Given the description of an element on the screen output the (x, y) to click on. 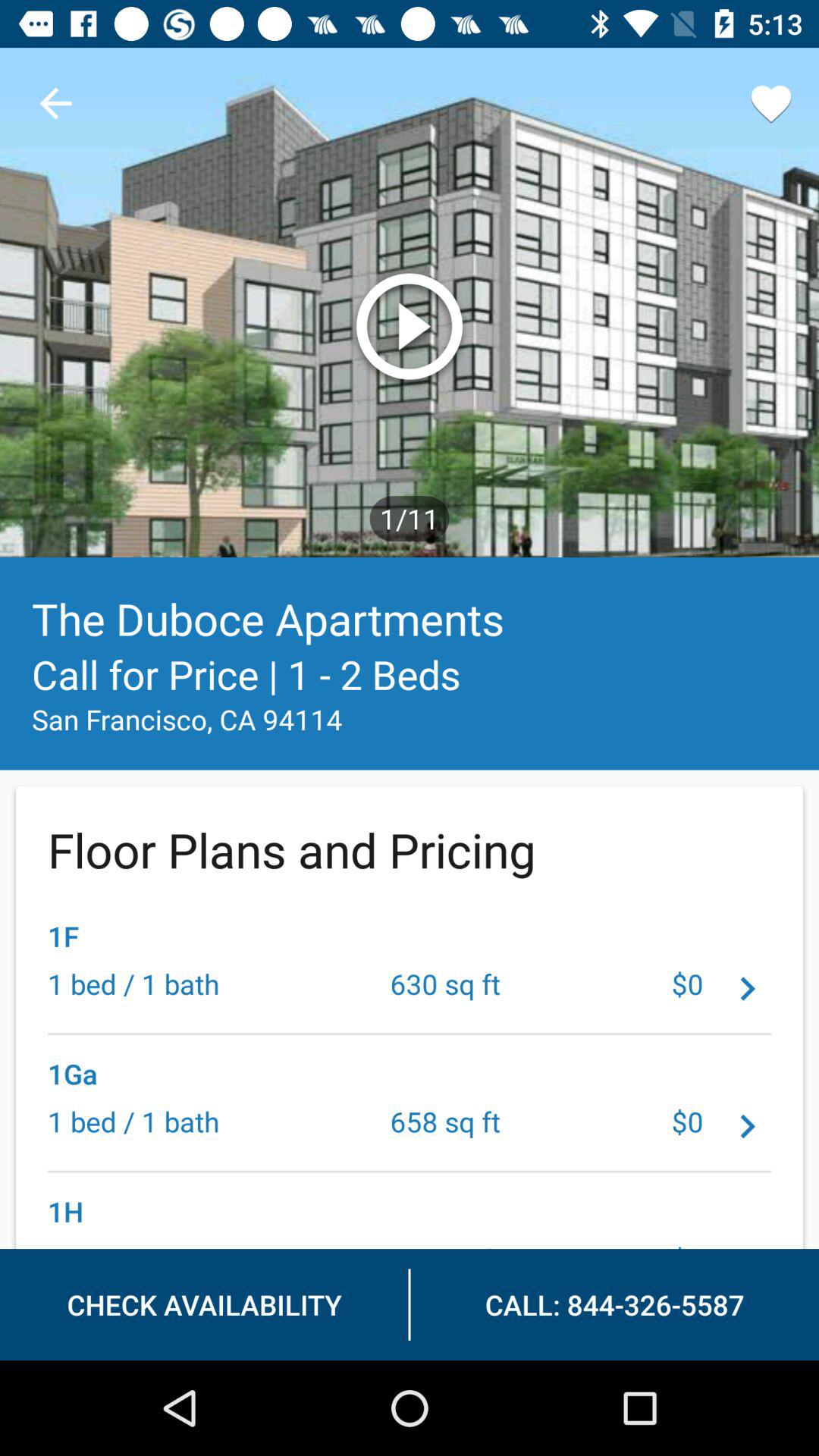
select the button after check availability (615, 1304)
